Given the description of an element on the screen output the (x, y) to click on. 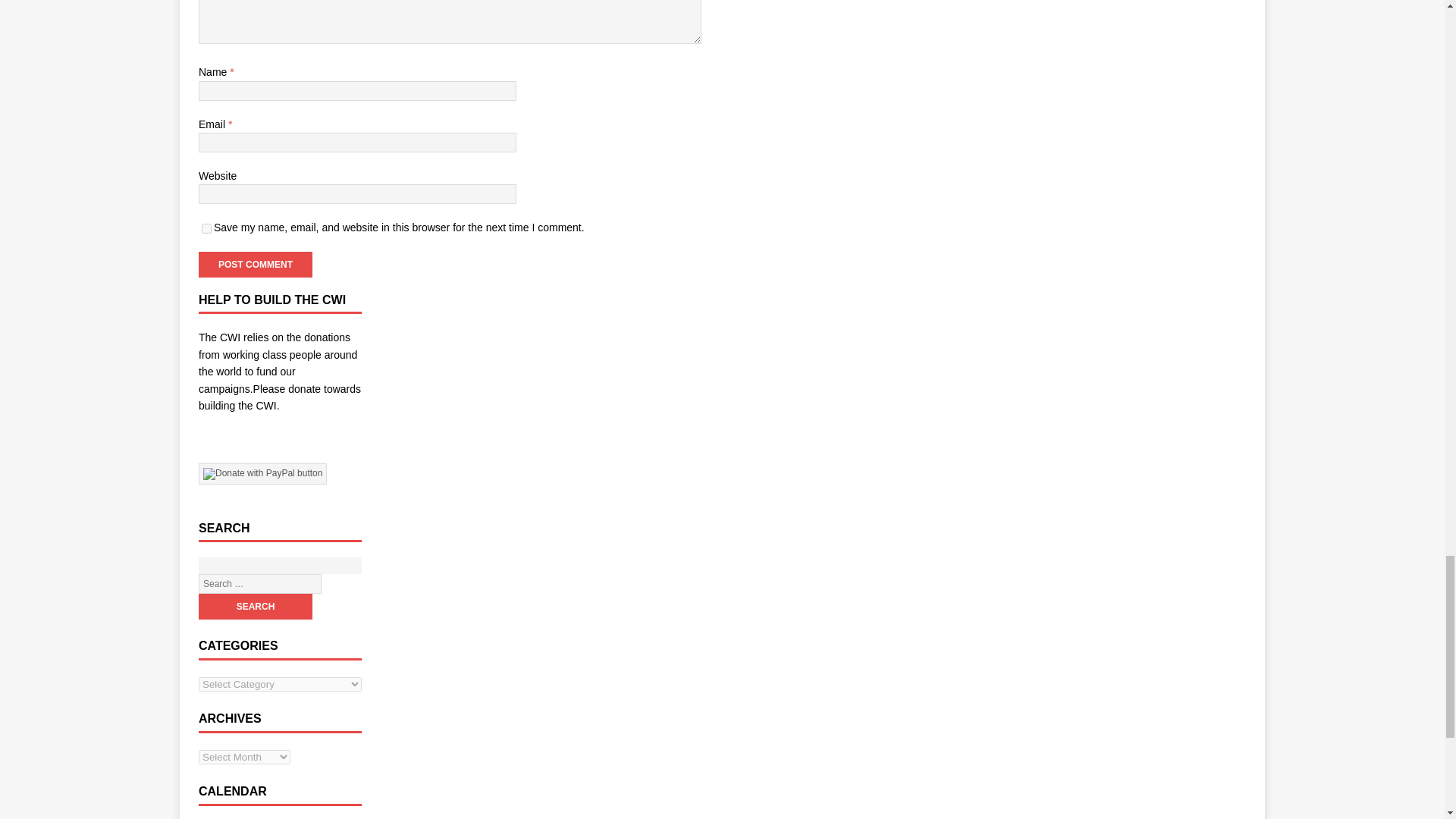
Search (255, 606)
Post Comment (255, 264)
Search (255, 606)
yes (206, 228)
